Given the description of an element on the screen output the (x, y) to click on. 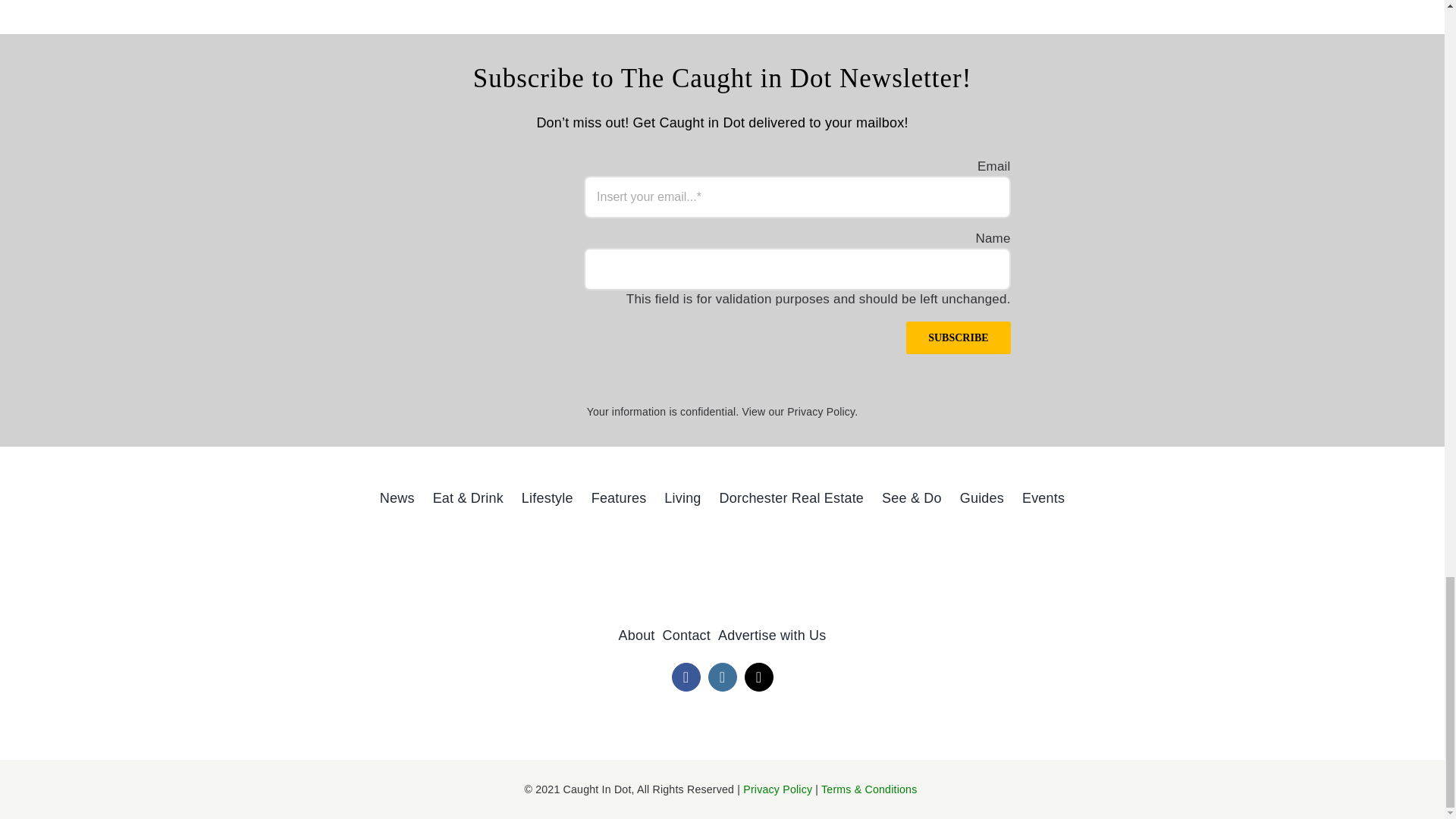
Subscribe (838, 352)
